Given the description of an element on the screen output the (x, y) to click on. 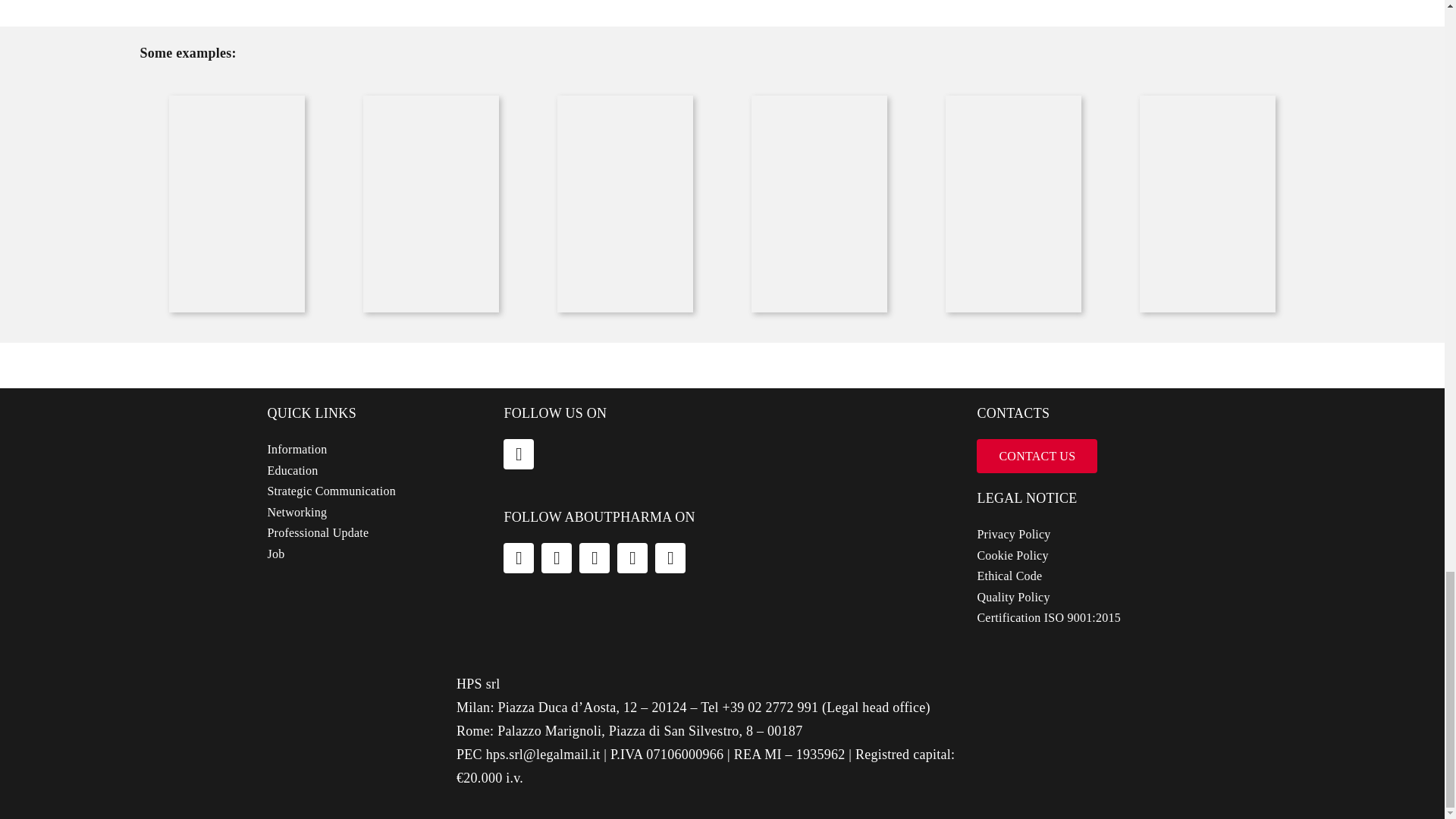
Facebook (518, 557)
YouTube (632, 557)
LinkedIn (518, 453)
Instagram (594, 557)
X (556, 557)
LinkedIn (670, 557)
HPS Eco Vadis (1079, 719)
